Given the description of an element on the screen output the (x, y) to click on. 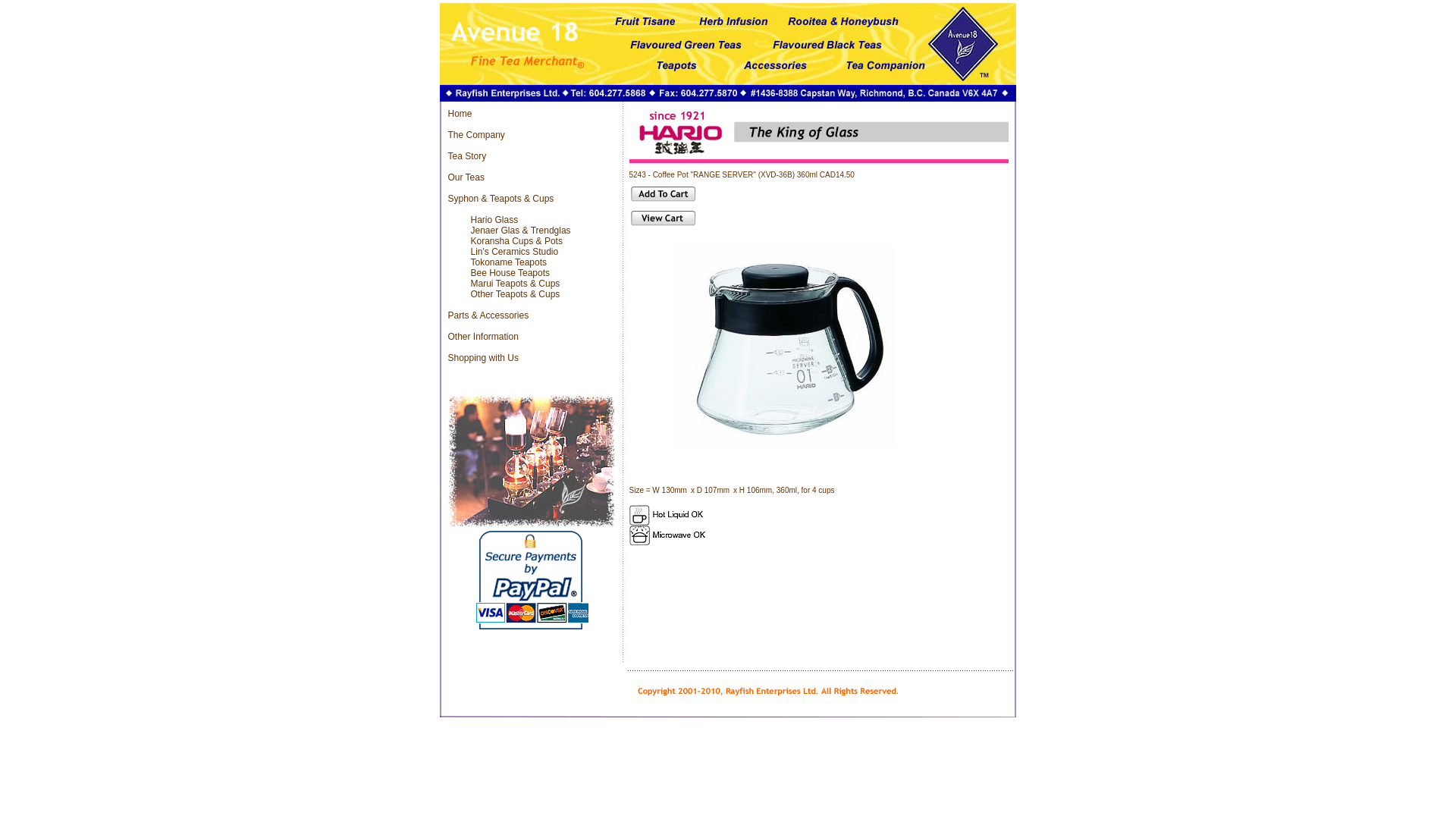
Lin's Ceramics Studio Element type: text (514, 251)
Shopping with Us Element type: text (482, 357)
Hario Glass Element type: text (493, 219)
Tea Story Element type: text (466, 155)
Marui Teapots & Cups Element type: text (514, 283)
Parts & Accessories Element type: text (487, 315)
Jenaer Glas & Trendglas Element type: text (520, 230)
Other Teapots & Cups Element type: text (514, 293)
Koransha Cups & Pots Element type: text (515, 240)
Tokoname Teapots Element type: text (508, 262)
Syphon & Teapots & Cups Element type: text (500, 198)
The Company Element type: text (475, 134)
Our Teas Element type: text (465, 177)
Other Information Element type: text (482, 336)
Bee House Teapots Element type: text (509, 272)
Home Element type: text (459, 113)
